Given the description of an element on the screen output the (x, y) to click on. 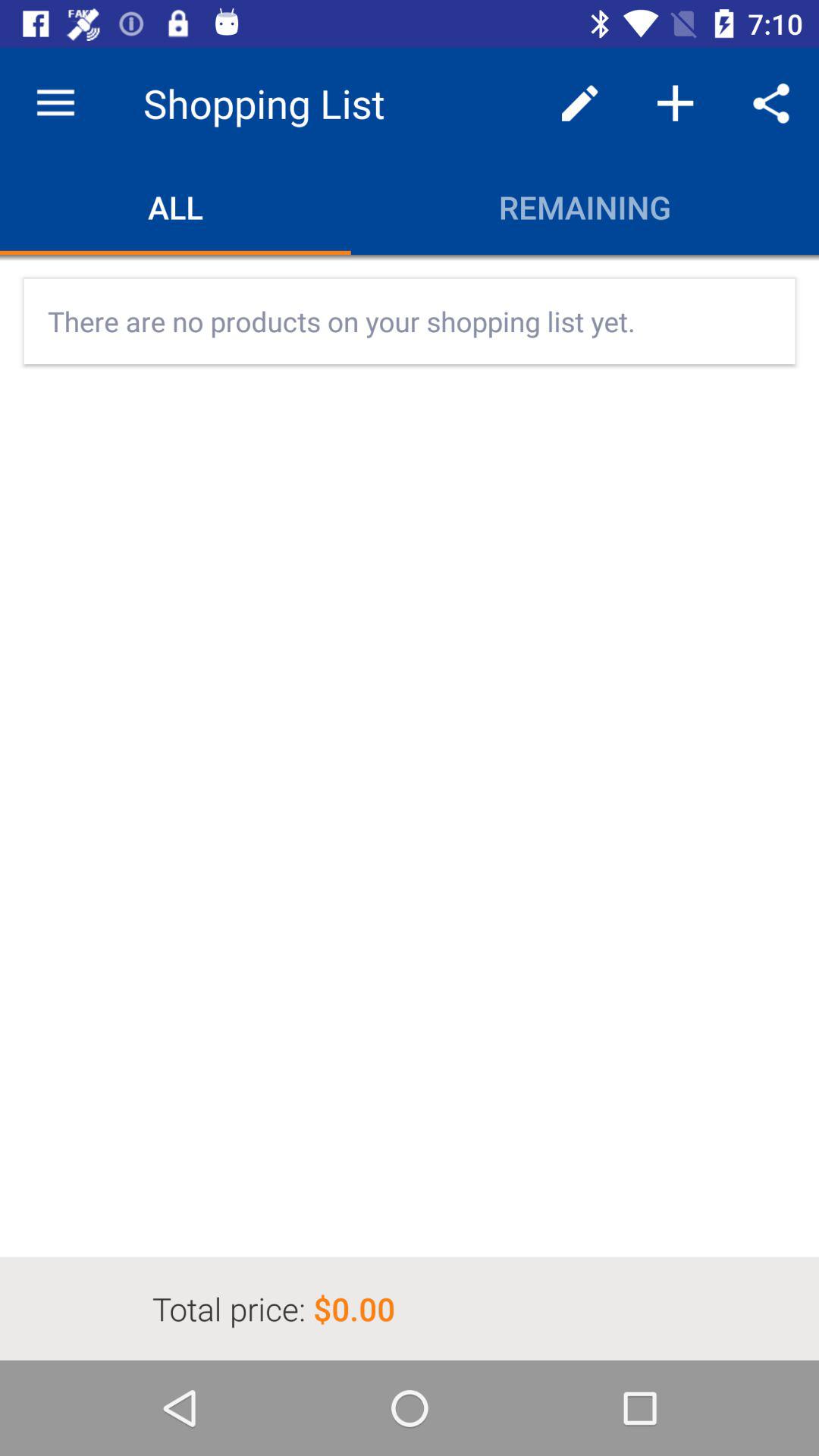
open icon above all (55, 103)
